Given the description of an element on the screen output the (x, y) to click on. 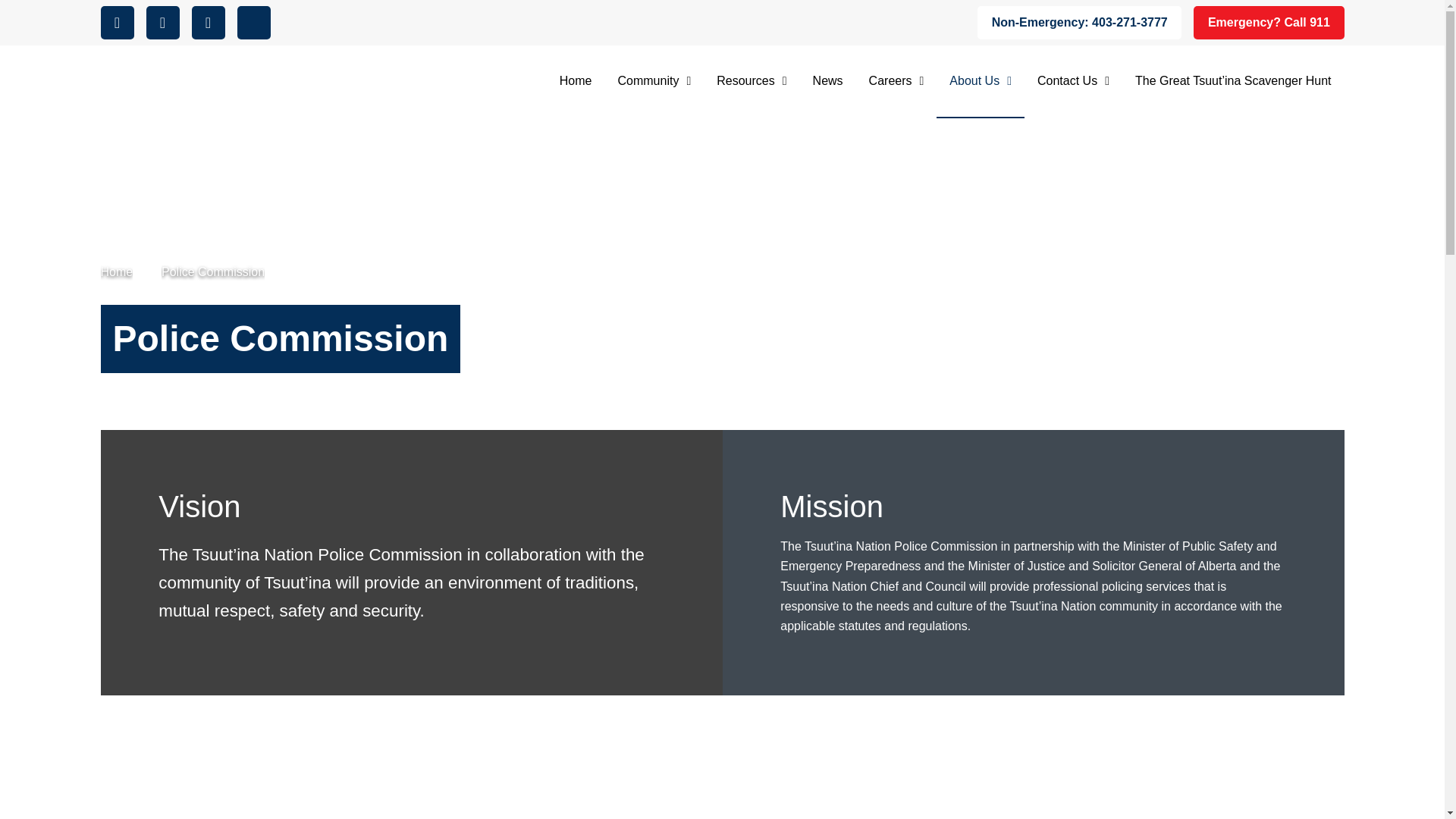
You Are Here (212, 271)
Emergency? Call 911 (1268, 22)
Home (116, 271)
Contact Us (1073, 81)
Resources (751, 81)
Police Commission (212, 271)
Non-Emergency: 403-271-3777 (1078, 22)
Community (654, 81)
Careers (896, 81)
About Us (980, 81)
